Given the description of an element on the screen output the (x, y) to click on. 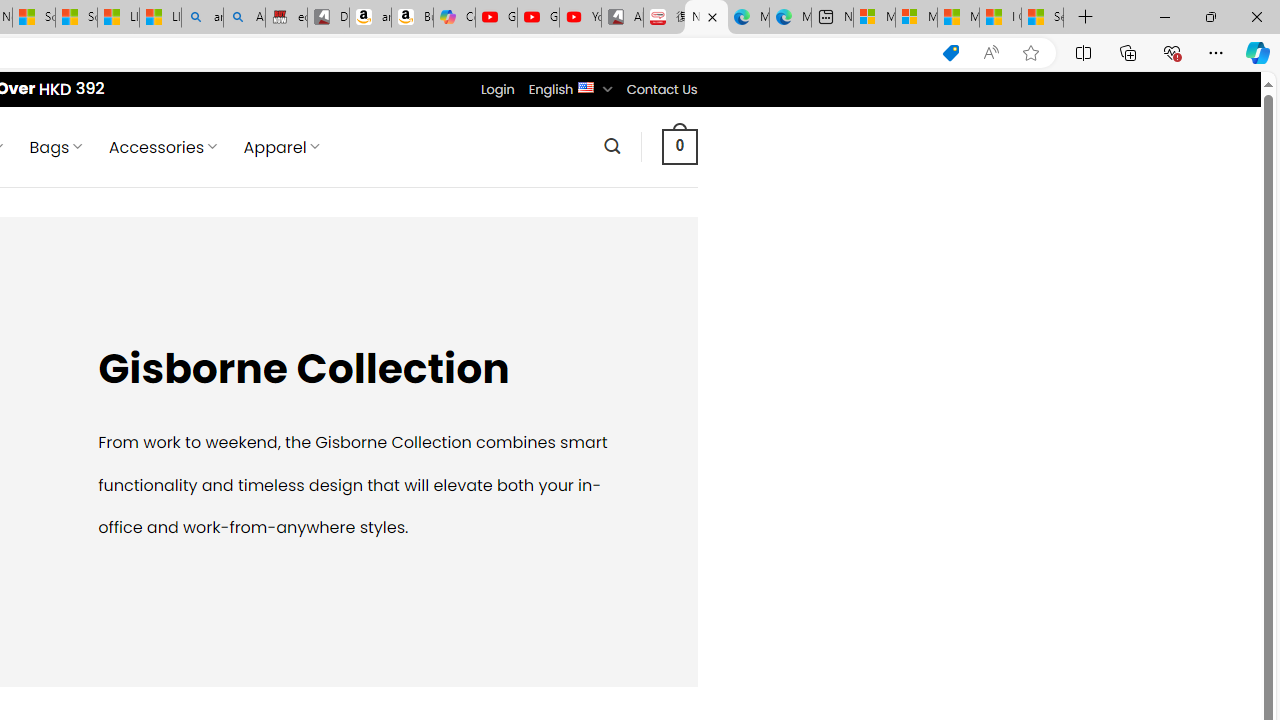
amazon.in/dp/B0CX59H5W7/?tag=gsmcom05-21 (369, 17)
Nordace - Gisborne Collection (706, 17)
